Given the description of an element on the screen output the (x, y) to click on. 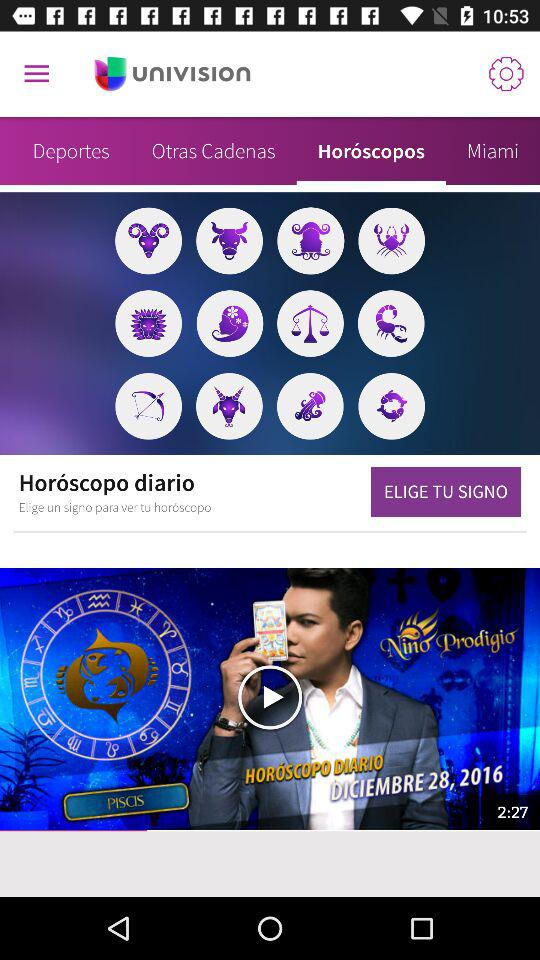
select the miami option which is below settings icon (493, 151)
